Given the description of an element on the screen output the (x, y) to click on. 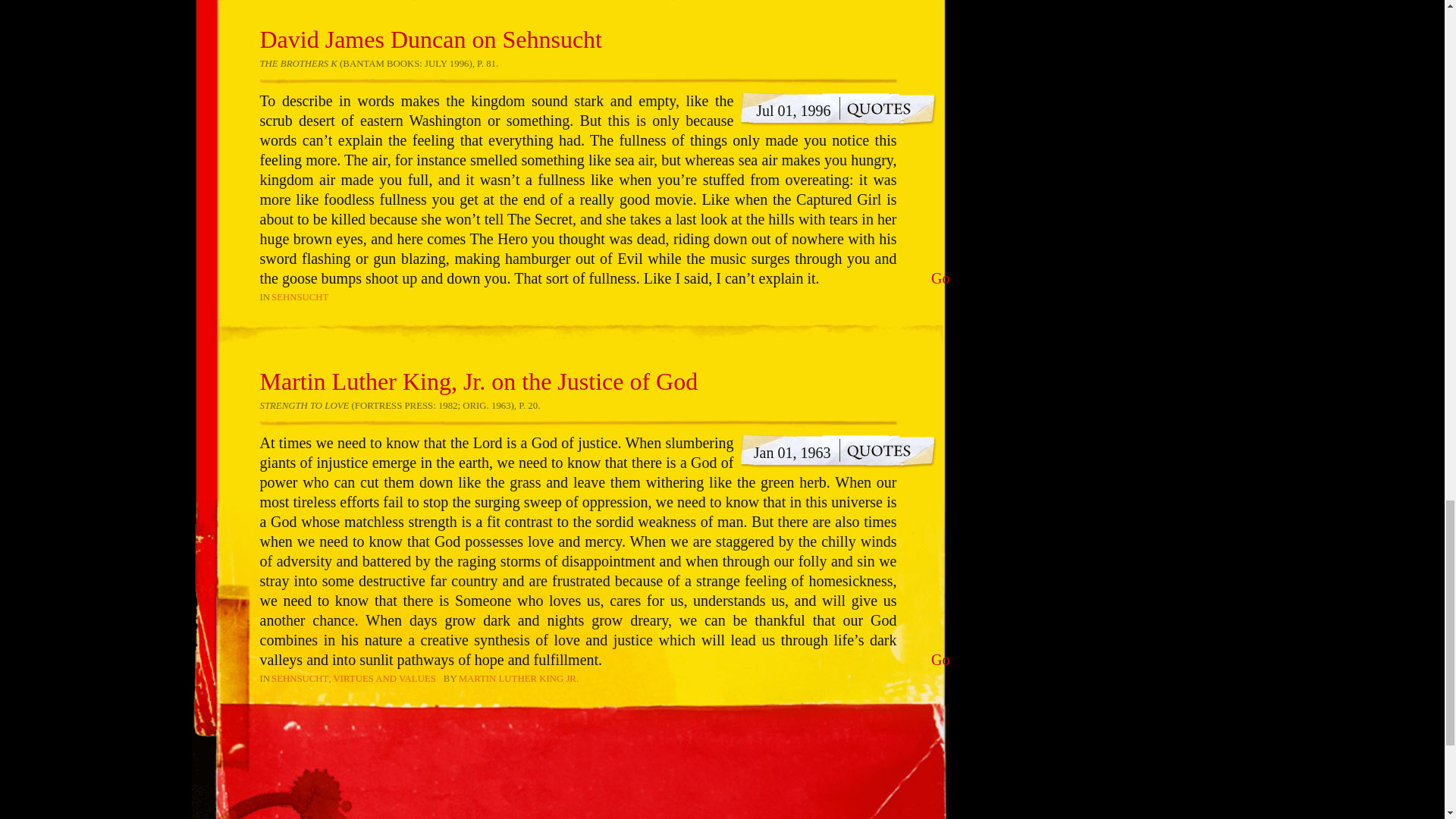
SEHNSUCHT (299, 296)
View all posts by Martin Luther King Jr. (518, 678)
David James Duncan on Sehnsucht (430, 39)
Martin Luther King, Jr. on the Justice of God (478, 380)
SEHNSUCHT (299, 678)
MARTIN LUTHER KING JR. (518, 678)
Go (940, 659)
Go (940, 278)
VIRTUES AND VALUES (384, 678)
